Given the description of an element on the screen output the (x, y) to click on. 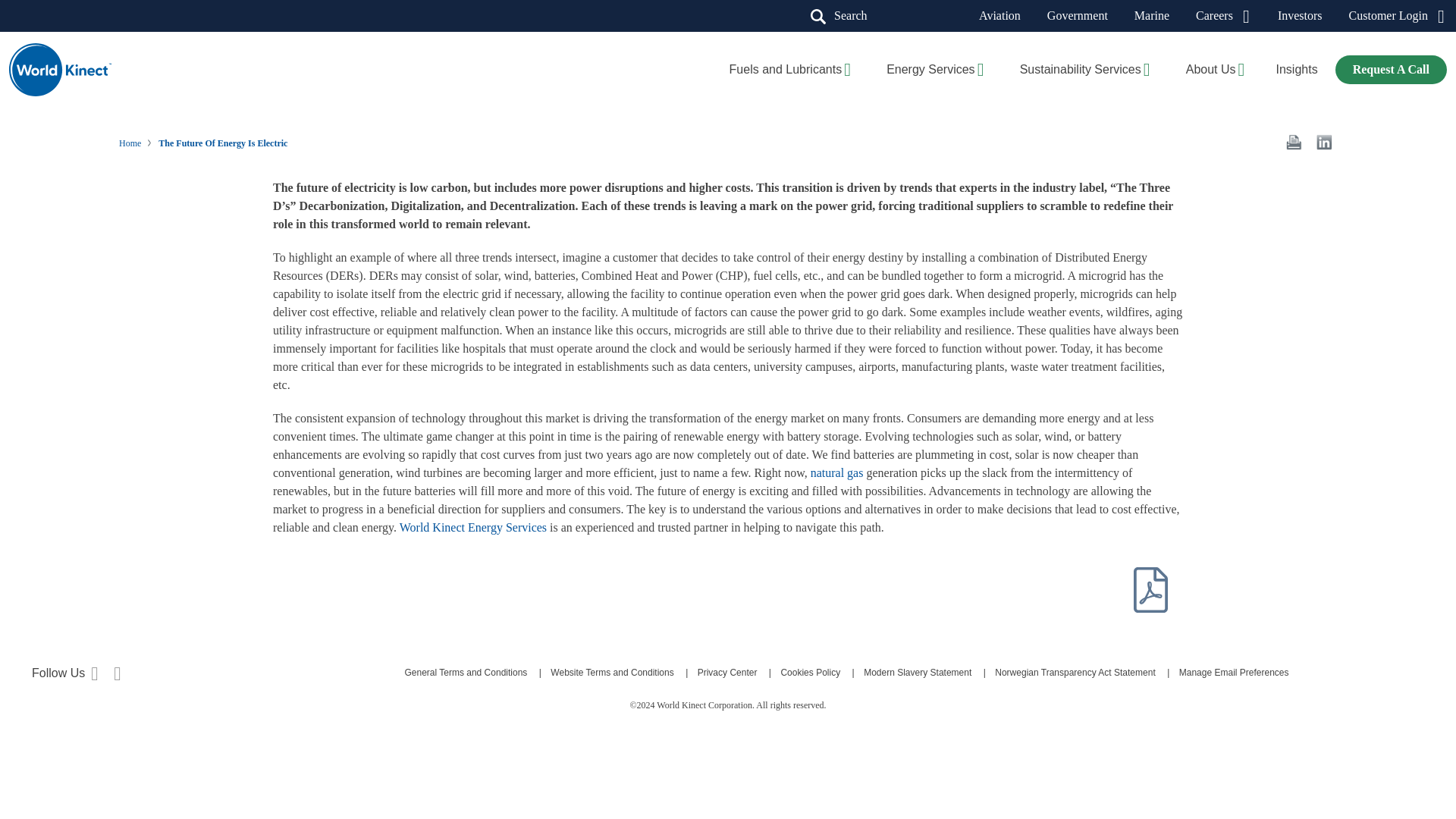
Marine (1151, 15)
Investors (1300, 15)
Careers (1213, 15)
Home (135, 142)
Home (60, 69)
Customer Login (1387, 15)
Government (1077, 15)
Aviation (999, 15)
Fuels and Lubricants (786, 69)
